Given the description of an element on the screen output the (x, y) to click on. 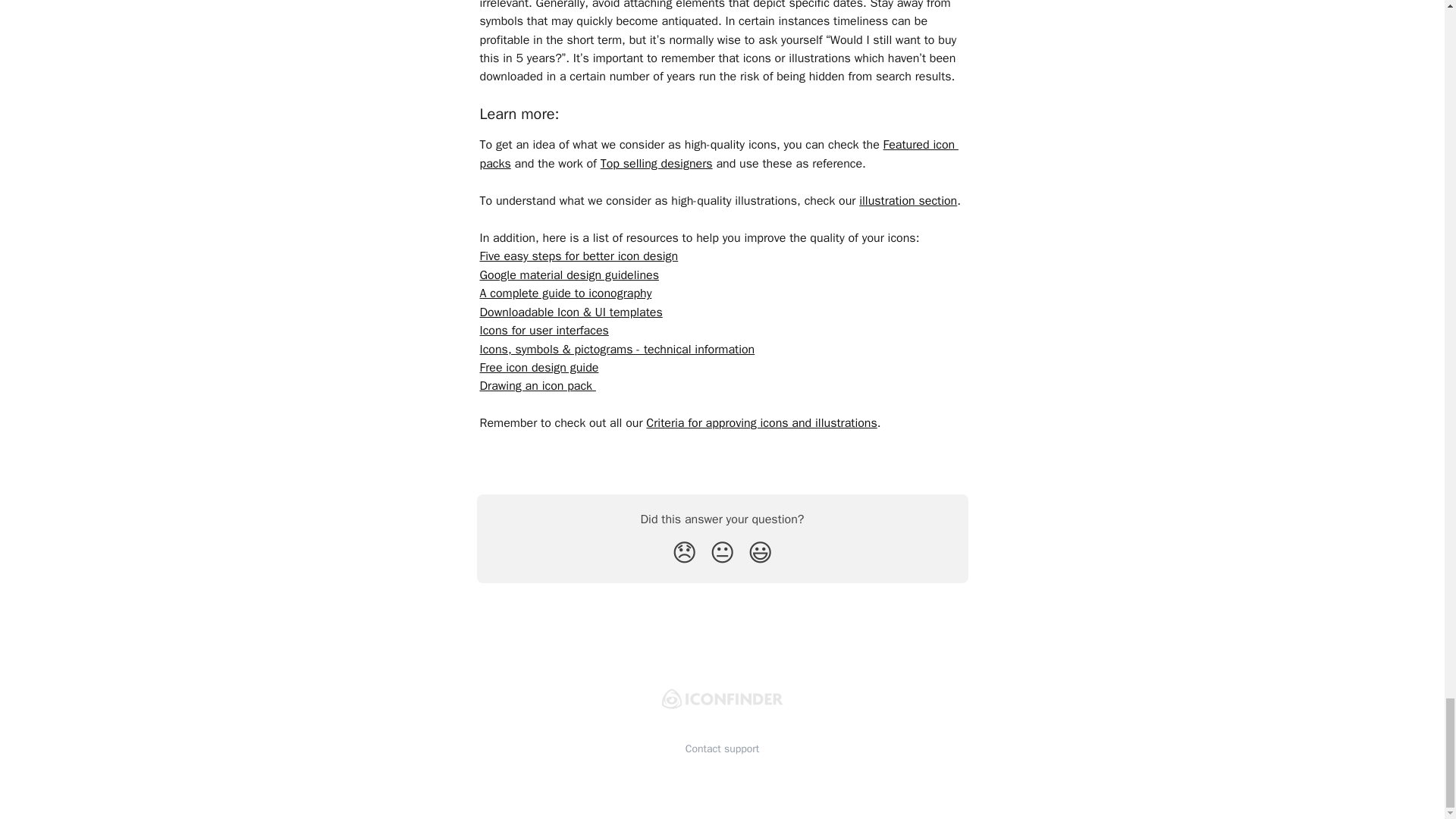
A complete guide to iconography (564, 293)
Five easy steps for better icon design (578, 255)
Google material design guidelines (568, 274)
Drawing an icon pack (537, 385)
illustration section (907, 200)
Featured icon packs (718, 153)
Contact support (722, 748)
Criteria for approving icons and illustrations (761, 422)
Free icon design guide (538, 367)
Top selling designers (656, 163)
